Given the description of an element on the screen output the (x, y) to click on. 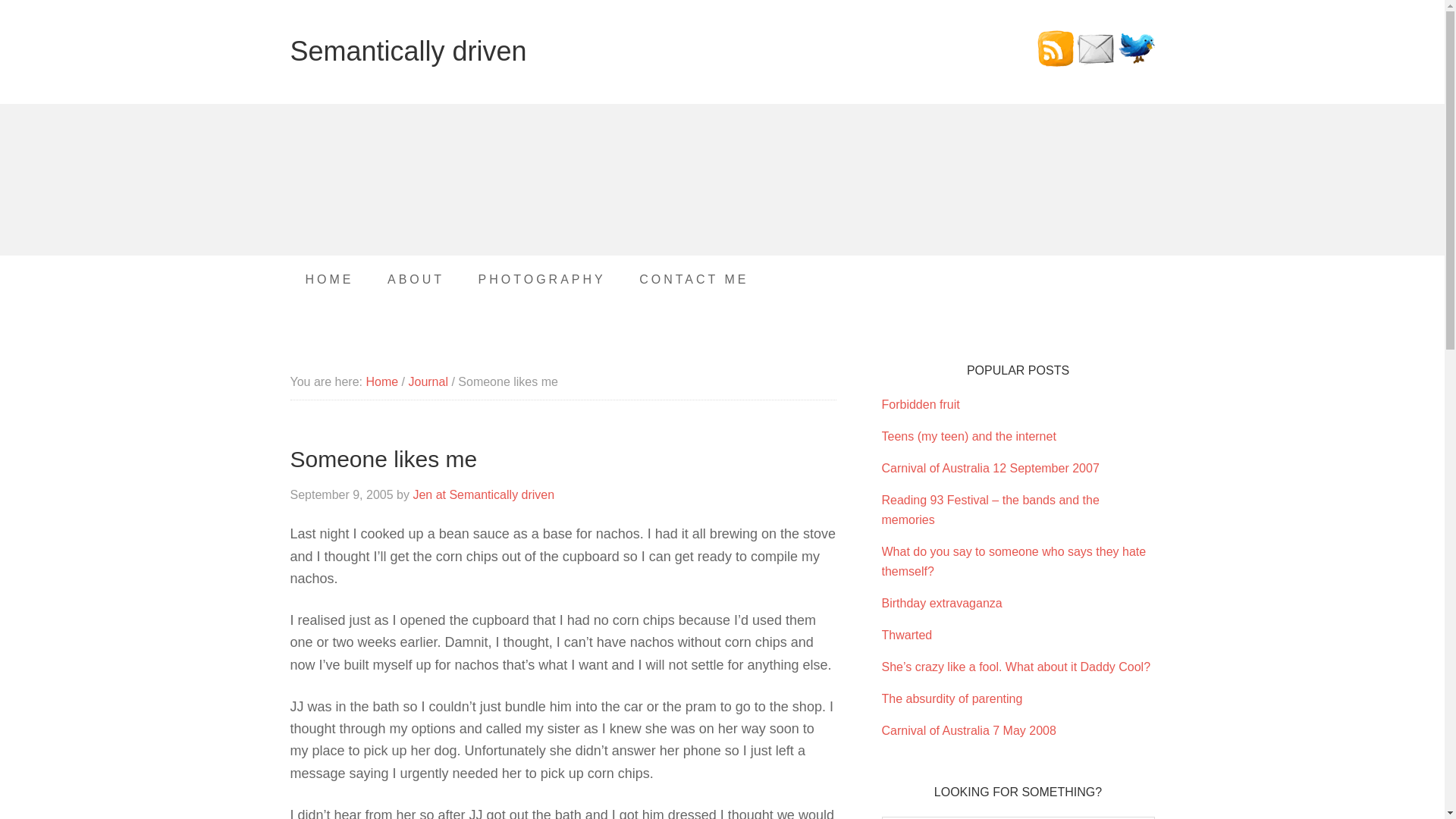
Semantically driven (407, 51)
What do you say to someone who says they hate themself? (1012, 561)
Carnival of Australia 7 May 2008 (967, 730)
Subscribe to my feed (1055, 61)
Jen at Semantically driven (483, 494)
Carnival of Australia 12 September 2007 (989, 468)
Forbidden fruit (919, 404)
PHOTOGRAPHY (542, 279)
Thwarted (905, 634)
